Given the description of an element on the screen output the (x, y) to click on. 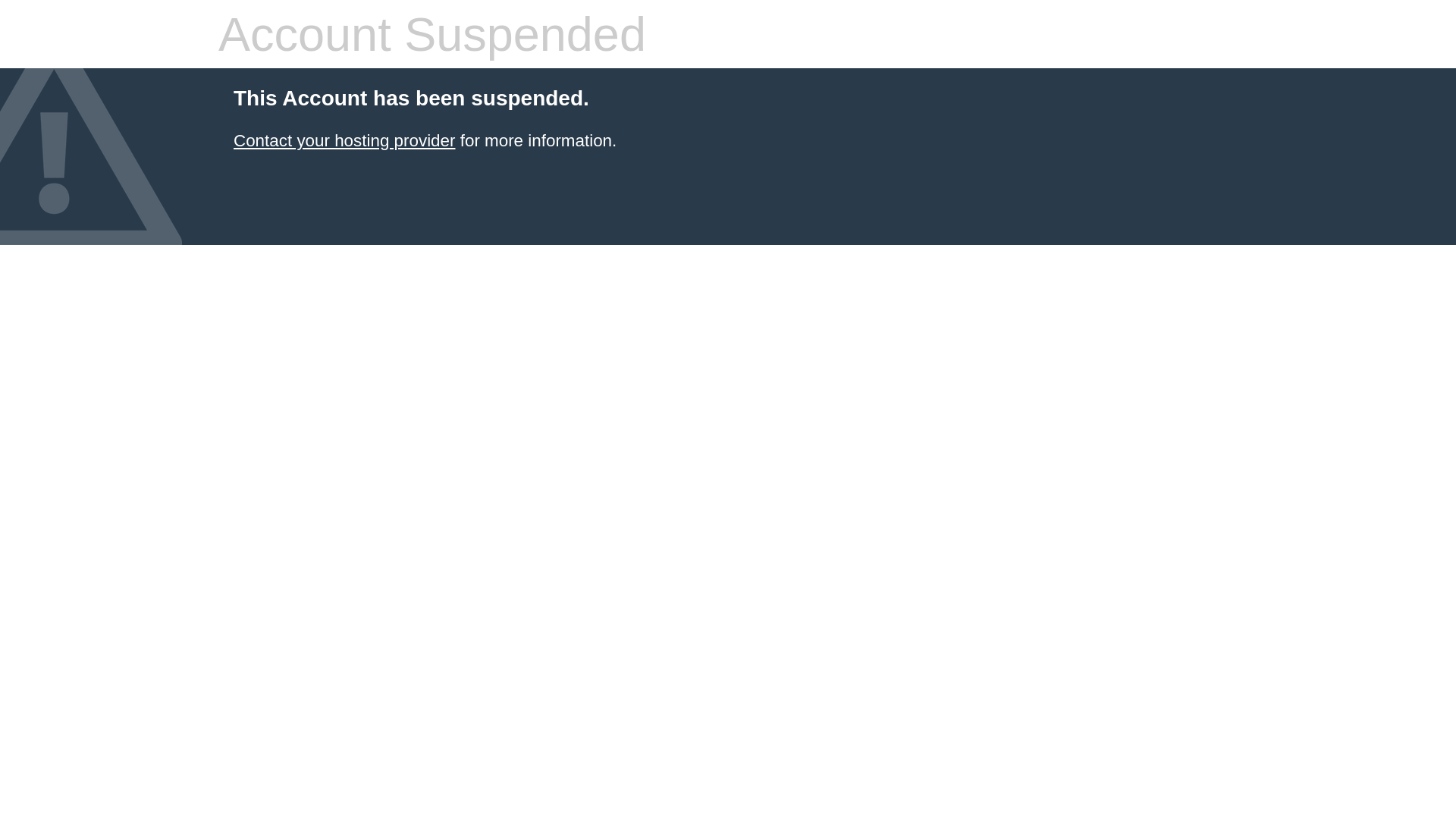
Contact your hosting provider Element type: text (344, 140)
